Given the description of an element on the screen output the (x, y) to click on. 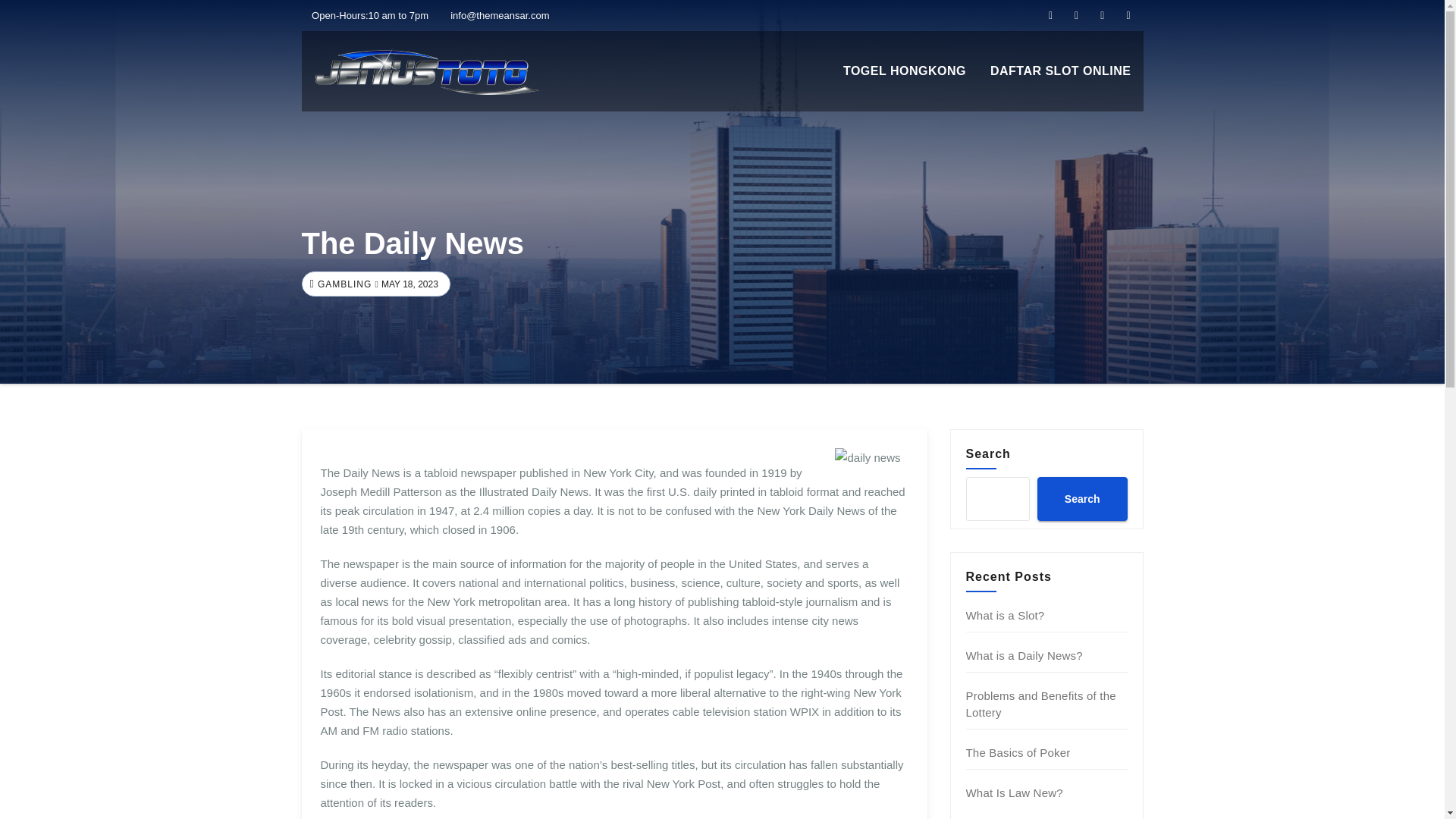
Problems and Benefits of the Lottery (1041, 704)
TOGEL HONGKONG (904, 70)
What is a Slot? (1005, 615)
Open-Hours:10 am to 7pm (365, 15)
What is a Daily News? (1024, 655)
GAMBLING (342, 284)
What Is Law New? (1014, 792)
Search (1081, 498)
The Basics of Poker (1018, 752)
daftar slot online (1060, 70)
